Given the description of an element on the screen output the (x, y) to click on. 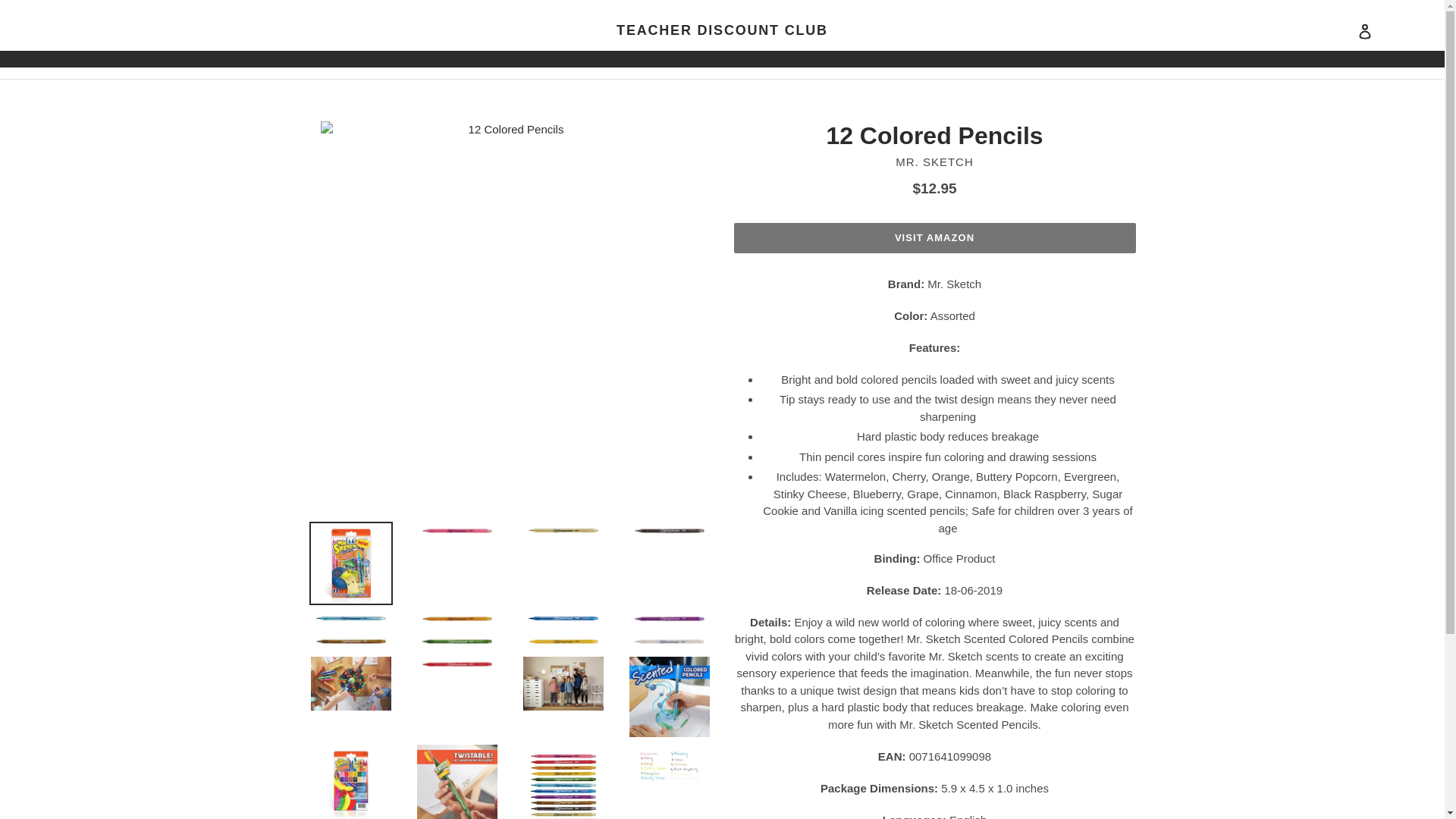
VISIT AMAZON (934, 237)
TEACHER DISCOUNT CLUB (721, 30)
